Given the description of an element on the screen output the (x, y) to click on. 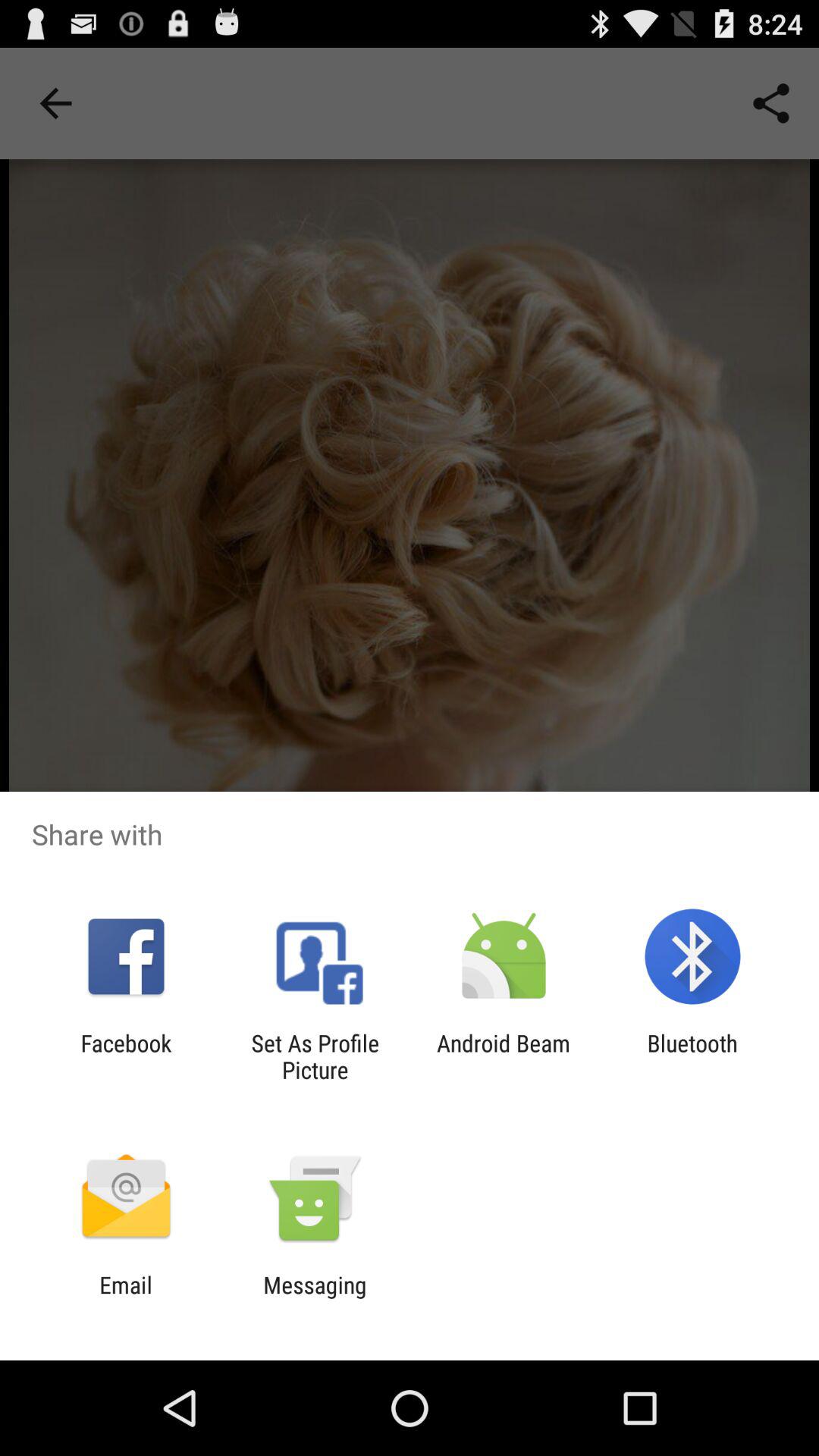
choose bluetooth item (692, 1056)
